Given the description of an element on the screen output the (x, y) to click on. 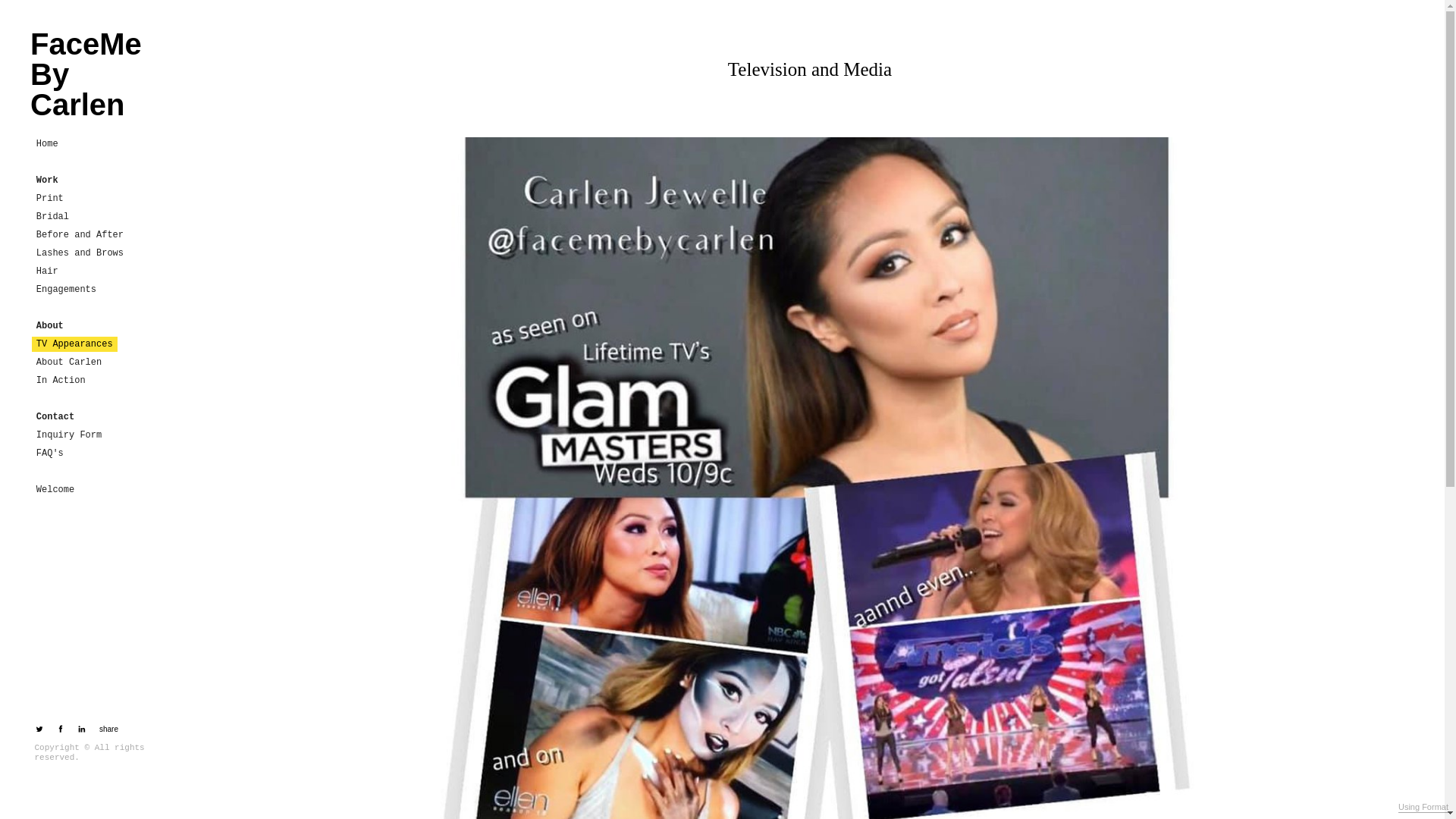
In Action (61, 380)
Engagements (66, 289)
Lashes and Brows (80, 253)
Home (47, 143)
Inquiry Form (69, 435)
Hair (47, 271)
FAQ's (50, 453)
FaceMe By Carlen (95, 73)
Work (45, 180)
About (48, 325)
